Given the description of an element on the screen output the (x, y) to click on. 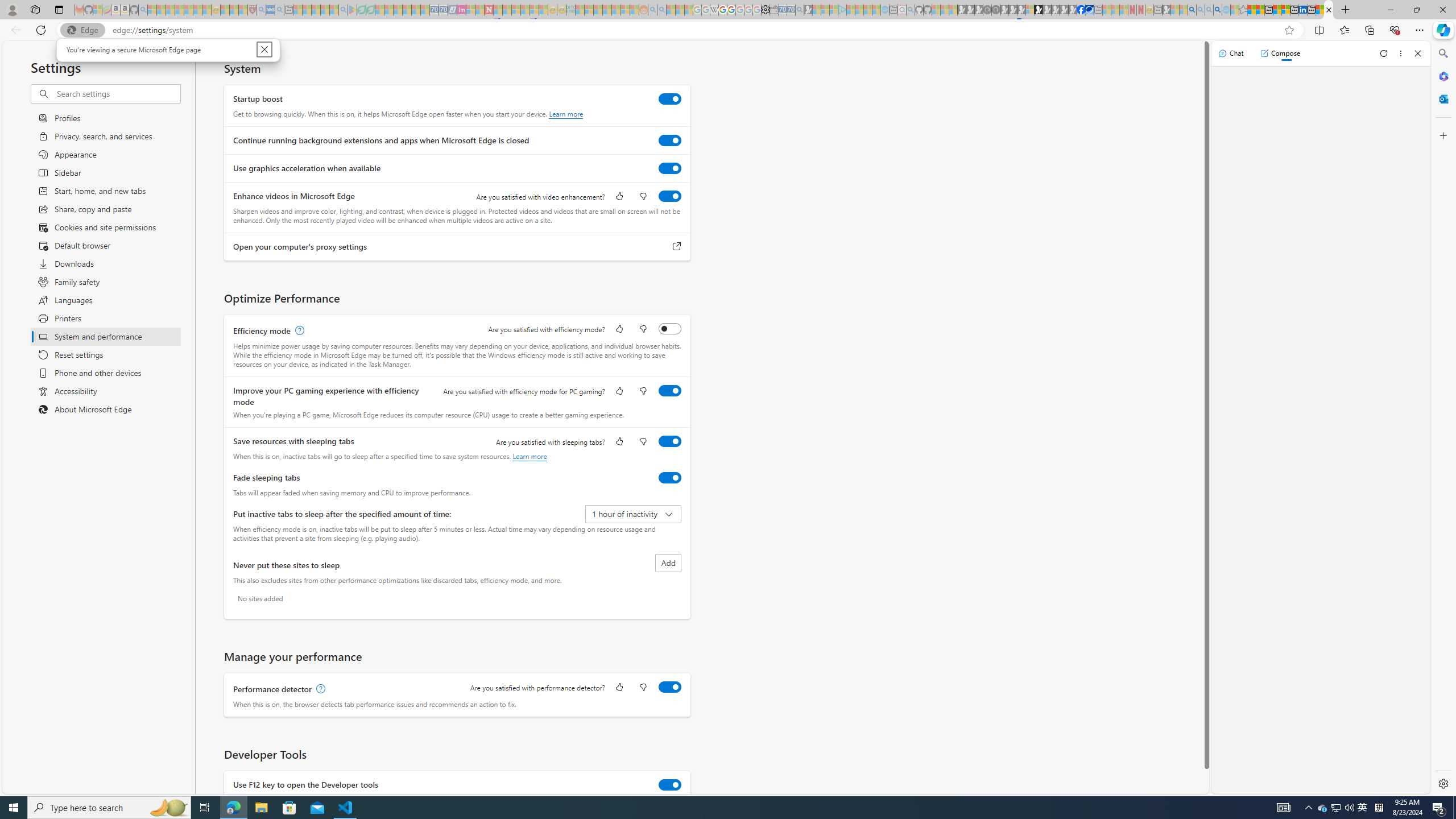
Type here to search (108, 807)
Aberdeen, Hong Kong SAR weather forecast | Microsoft Weather (1259, 9)
Pets - MSN - Sleeping (324, 9)
